Given the description of an element on the screen output the (x, y) to click on. 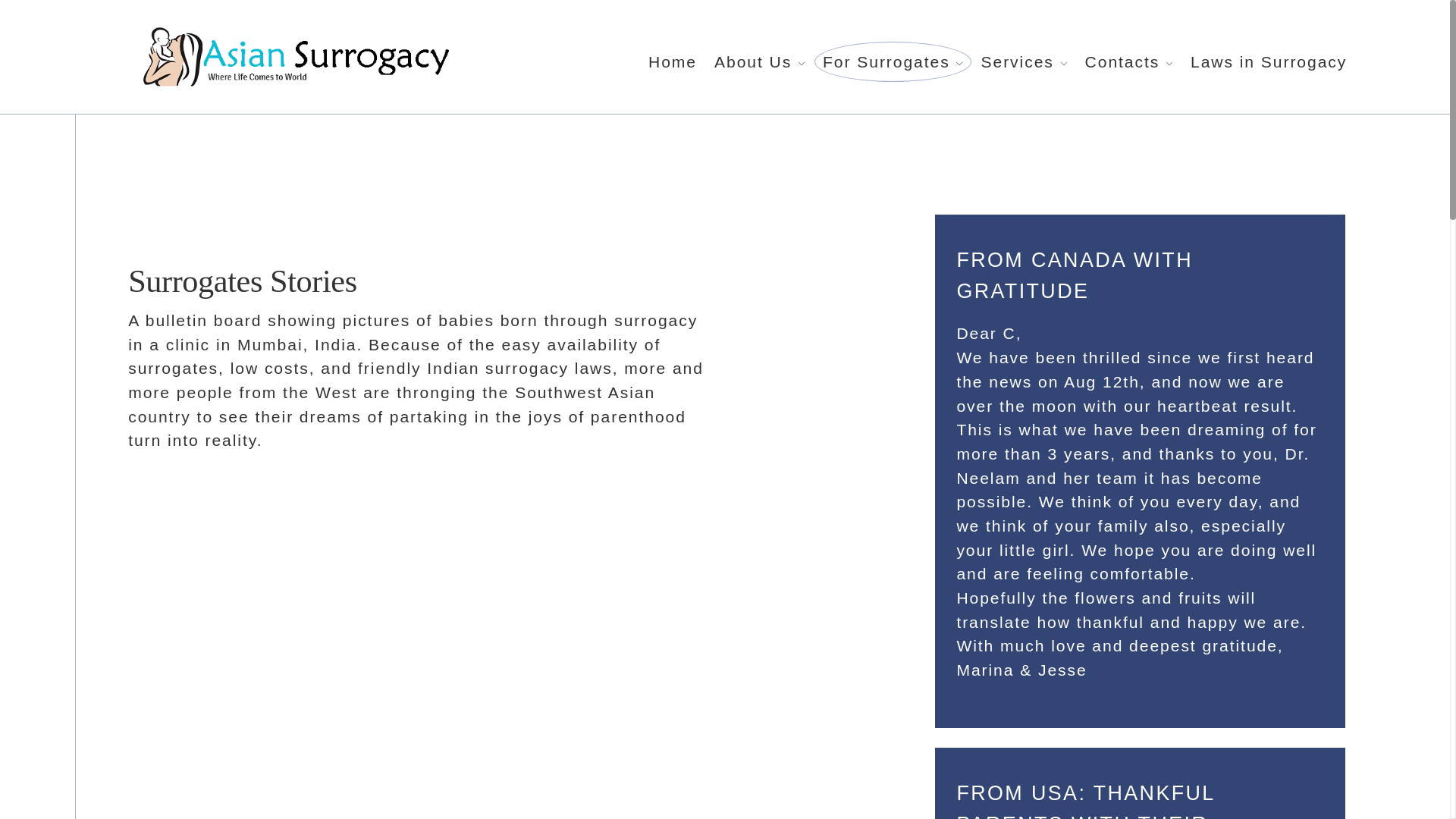
About Us (90, 36)
Home (24, 36)
Contacts (379, 36)
For Surrogates (892, 61)
Home (672, 61)
Laws in Surrogacy (500, 36)
For Surrogates (199, 36)
Laws in Surrogacy (1268, 61)
Services (1023, 61)
Services (302, 36)
About Us (759, 61)
Contacts (1128, 61)
